Given the description of an element on the screen output the (x, y) to click on. 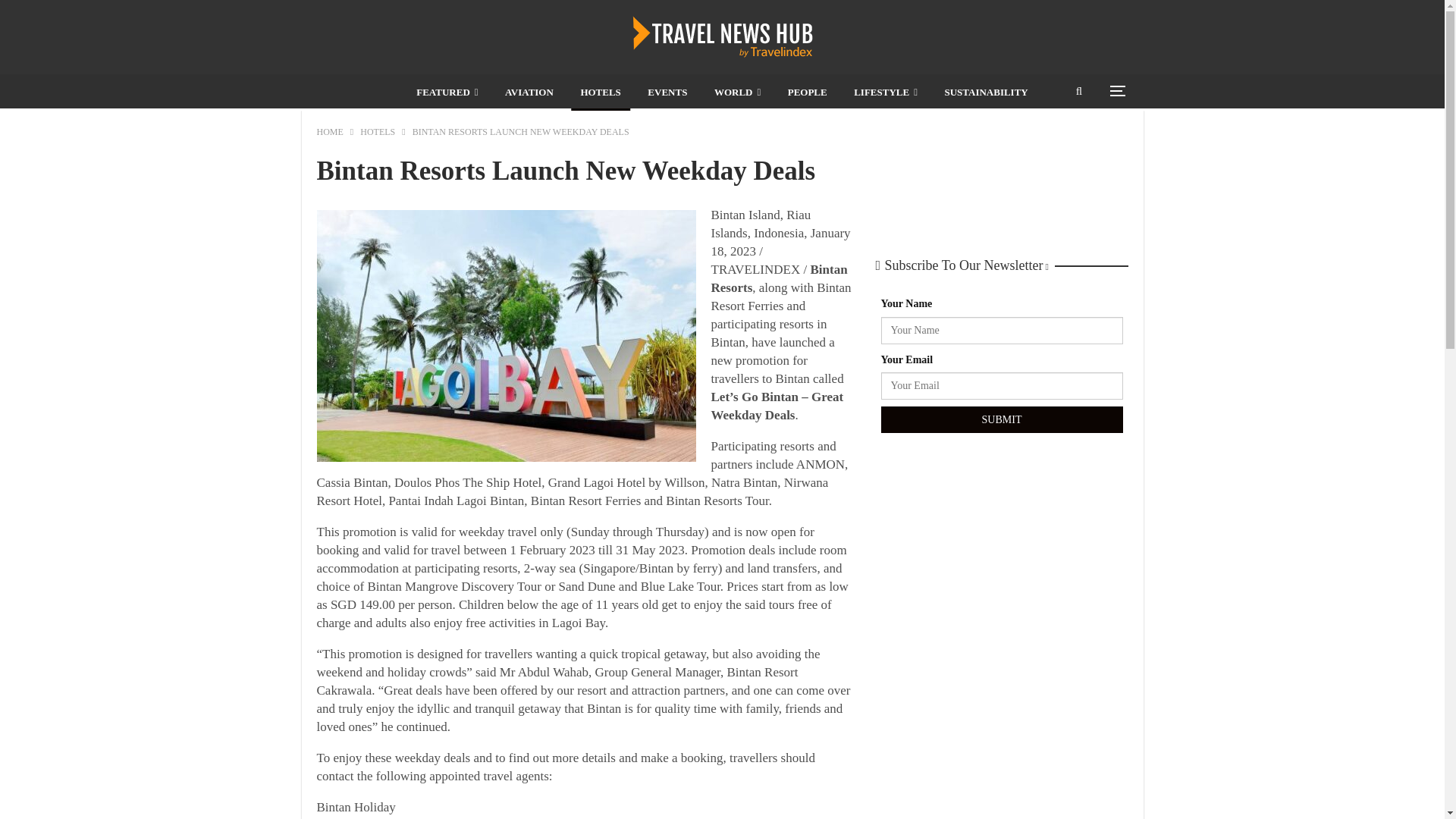
FEATURED (446, 92)
EVENTS (667, 92)
AVIATION (529, 92)
WORLD (737, 92)
Submit (1001, 420)
PEOPLE (806, 92)
LIFESTYLE (885, 92)
HOTELS (599, 92)
